Given the description of an element on the screen output the (x, y) to click on. 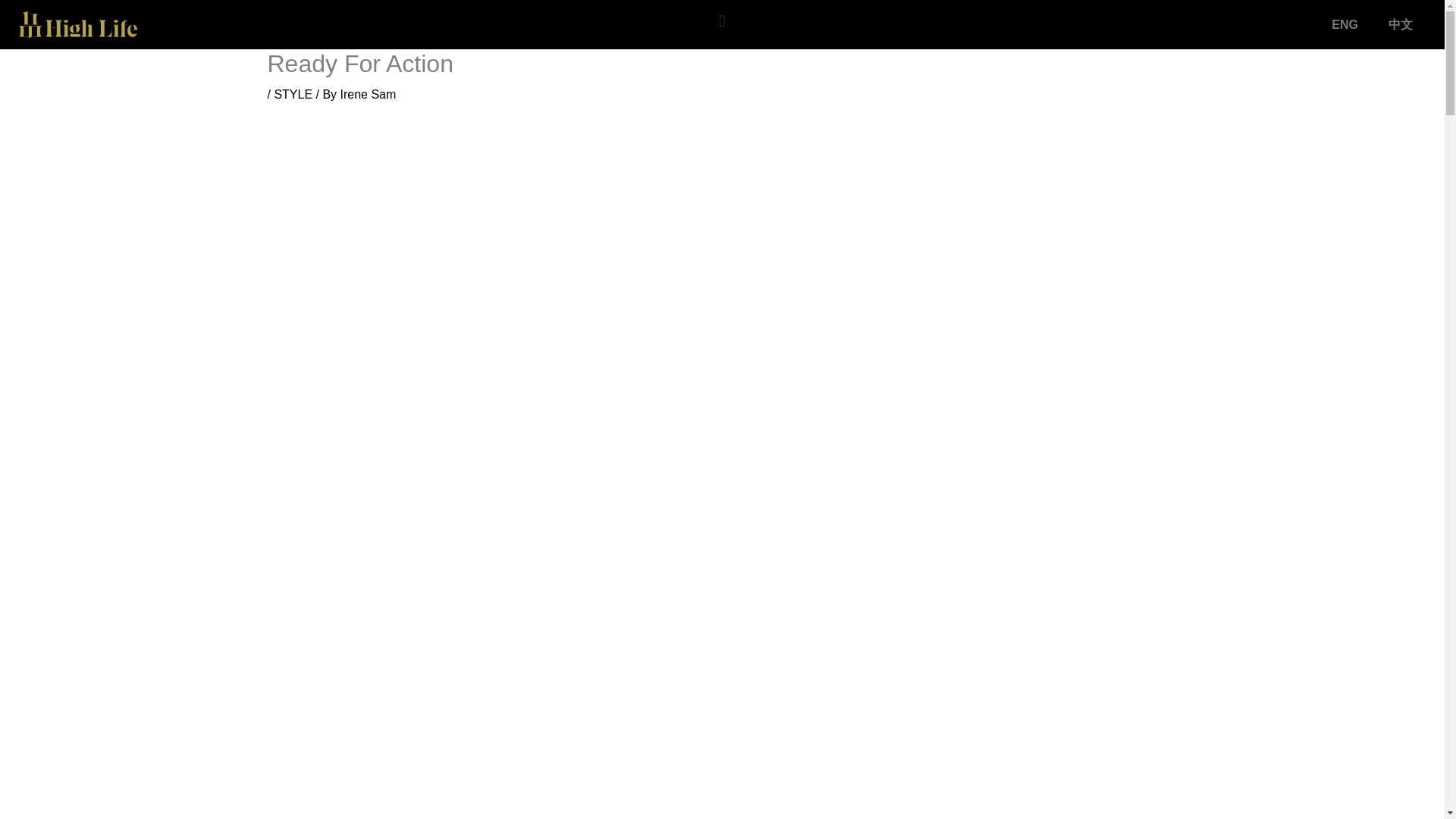
Irene Sam (368, 93)
STYLE (293, 93)
View all posts by Irene Sam (368, 93)
ENG (1344, 24)
